Given the description of an element on the screen output the (x, y) to click on. 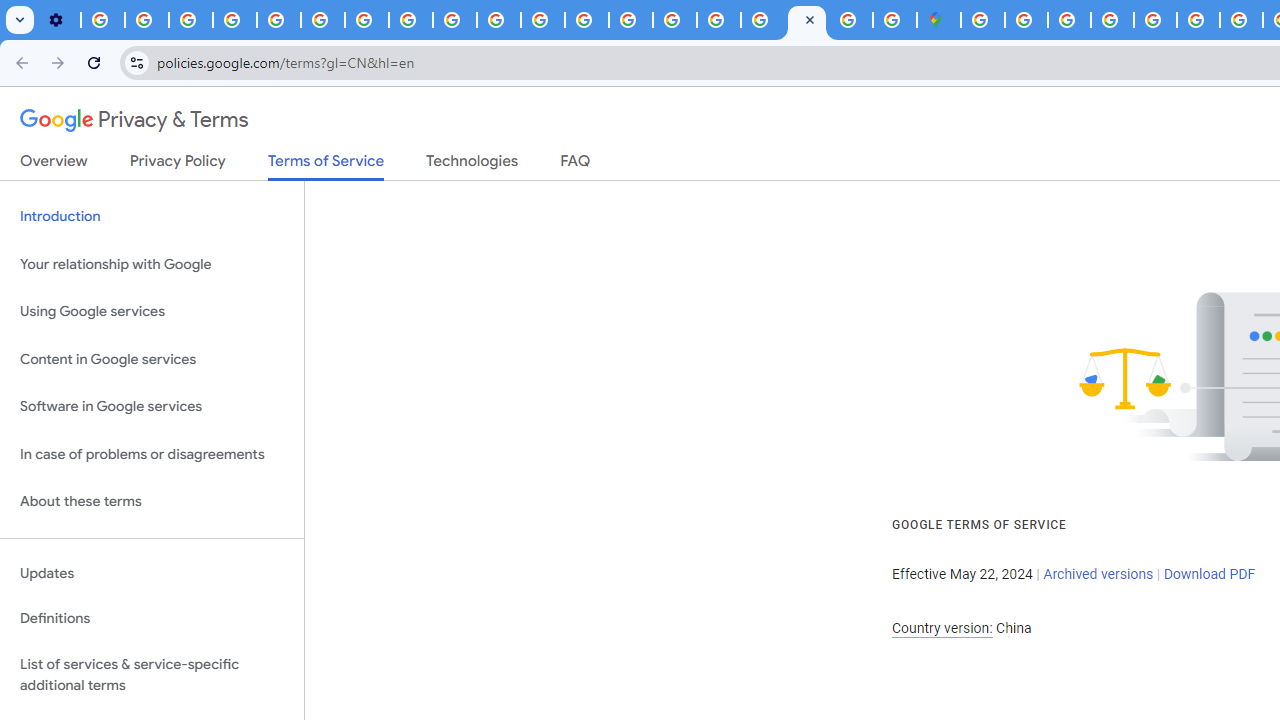
Technologies (472, 165)
Updates (152, 573)
Privacy Help Center - Policies Help (1241, 20)
Privacy Help Center - Policies Help (586, 20)
Google Account Help (234, 20)
Download PDF (1209, 574)
Definitions (152, 619)
Delete photos & videos - Computer - Google Photos Help (102, 20)
List of services & service-specific additional terms (152, 674)
Privacy Checkup (454, 20)
